Given the description of an element on the screen output the (x, y) to click on. 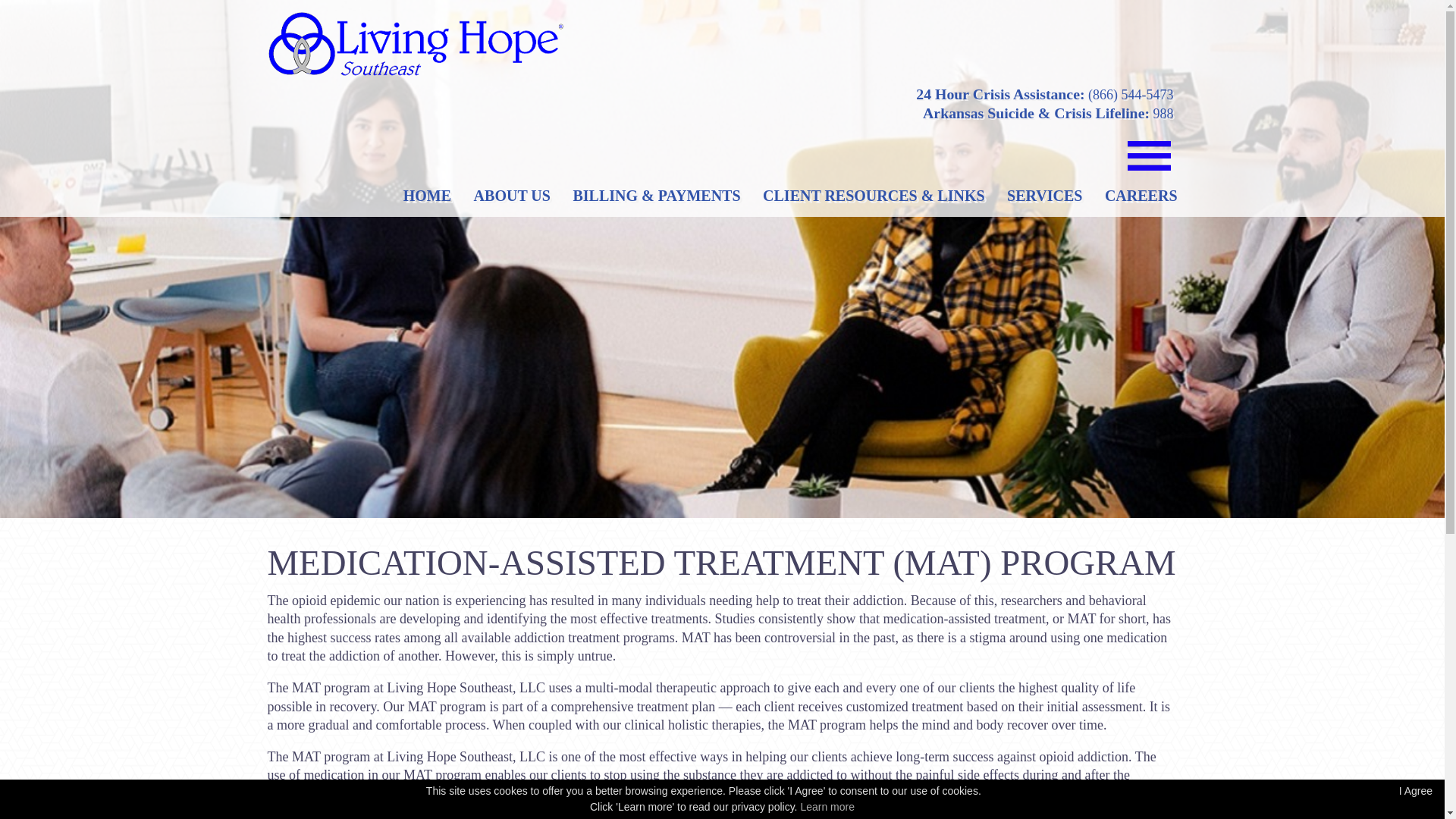
Learn more (826, 806)
CAREERS (1141, 195)
ABOUT US (512, 195)
HOME (427, 195)
SERVICES (1044, 195)
